Given the description of an element on the screen output the (x, y) to click on. 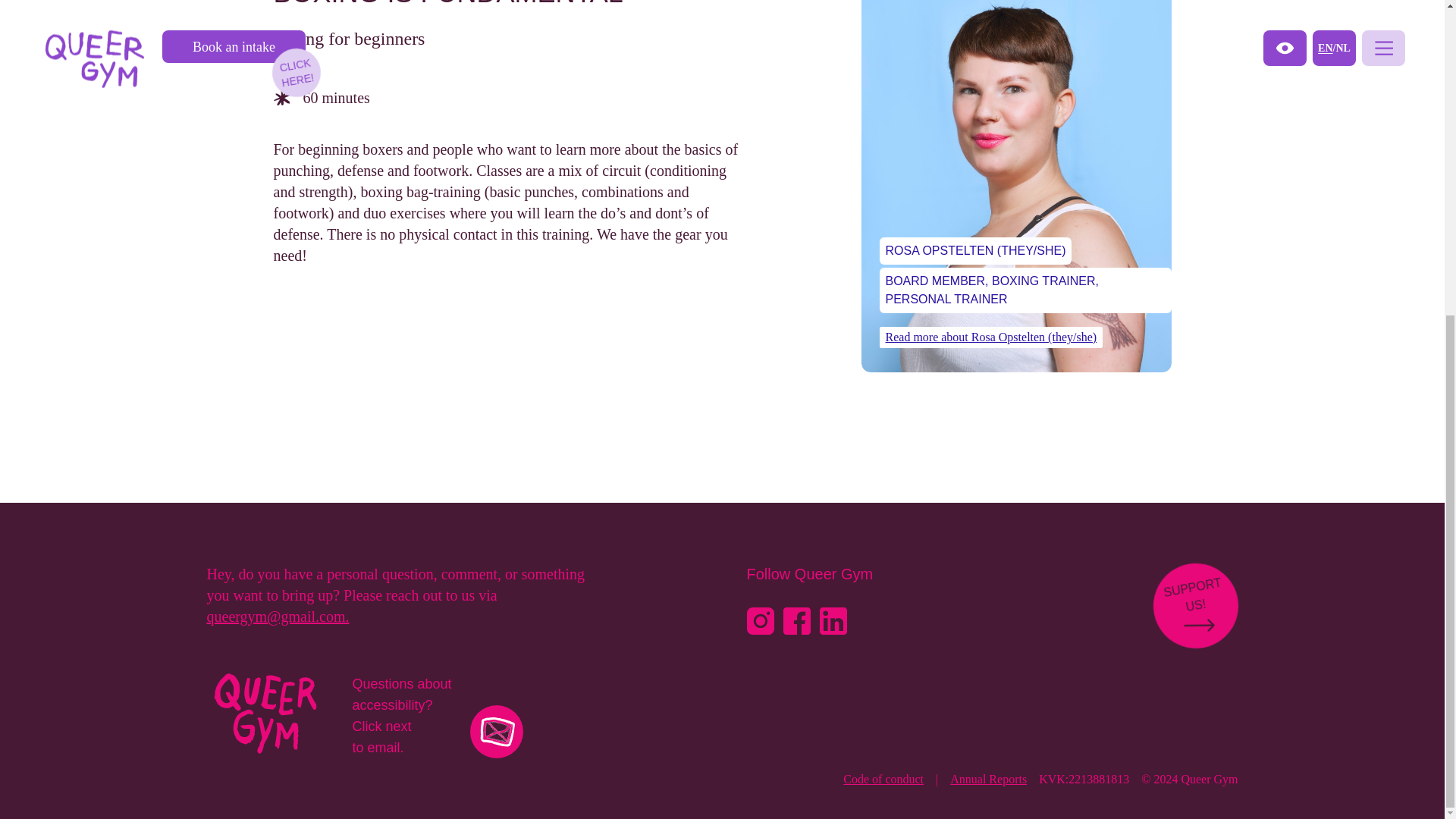
Code of conduct (1189, 599)
Annual Reports (883, 779)
Query Gym LinkedIn (988, 779)
Query Gym Instagram (831, 620)
Code of conduct (759, 620)
Query Gym Facebook (883, 779)
Annual Reports (796, 620)
